Given the description of an element on the screen output the (x, y) to click on. 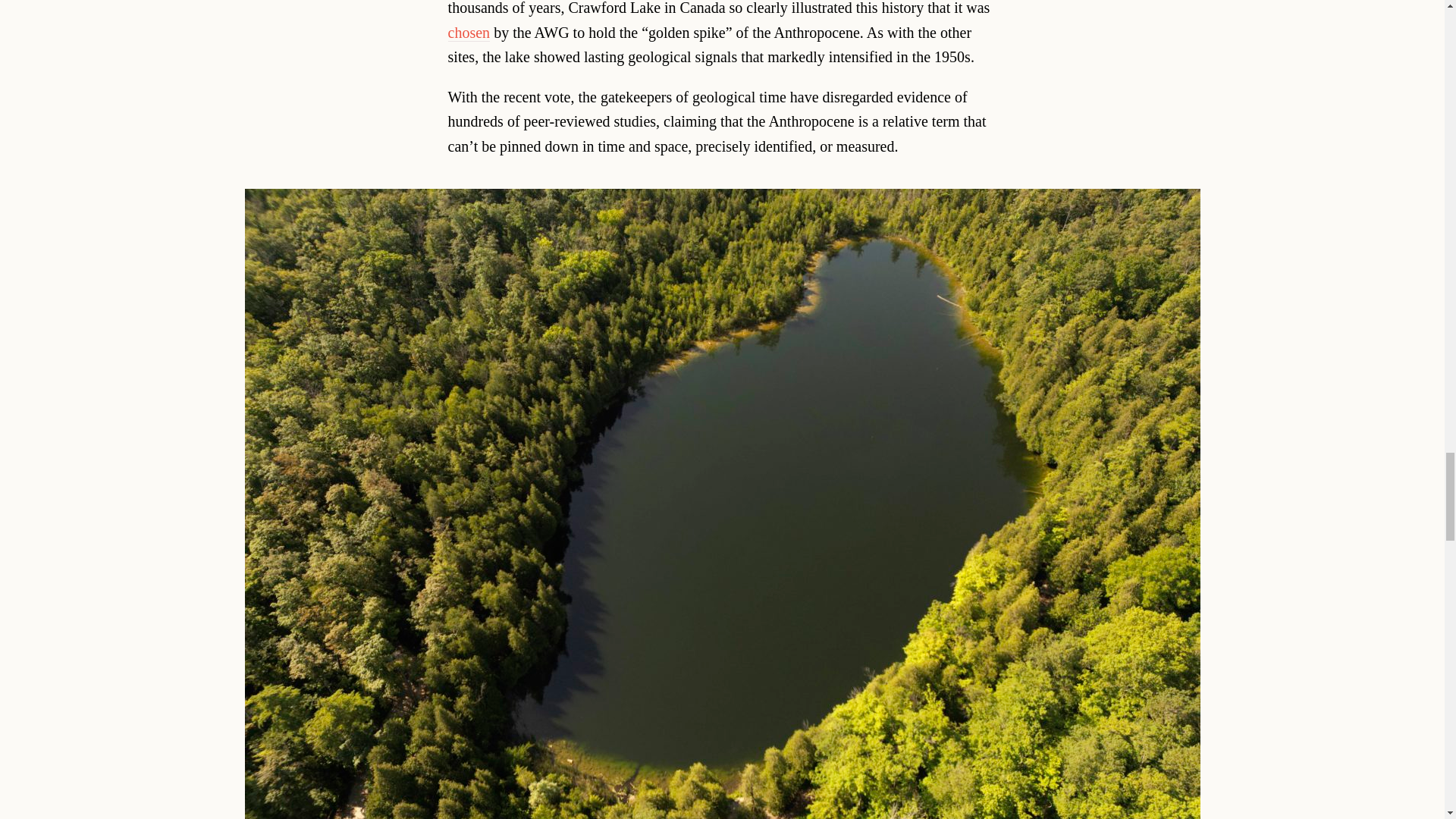
chosen (469, 32)
